Given the description of an element on the screen output the (x, y) to click on. 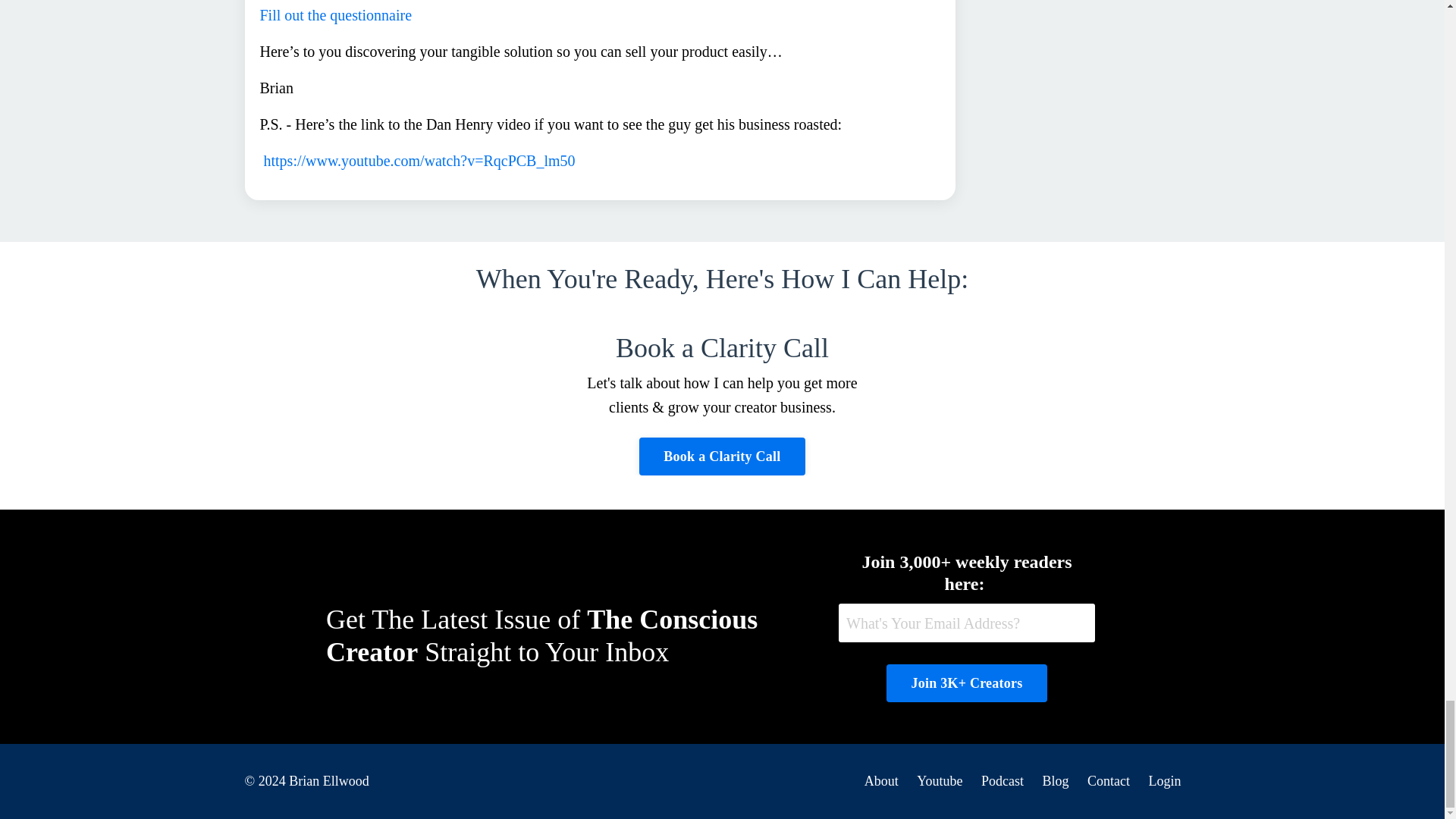
Blog (1055, 780)
Youtube (939, 780)
Book a Clarity Call (722, 456)
About (881, 780)
Login (1164, 780)
Podcast (1002, 780)
Contact (1108, 780)
Fill out the questionnaire (335, 14)
